Given the description of an element on the screen output the (x, y) to click on. 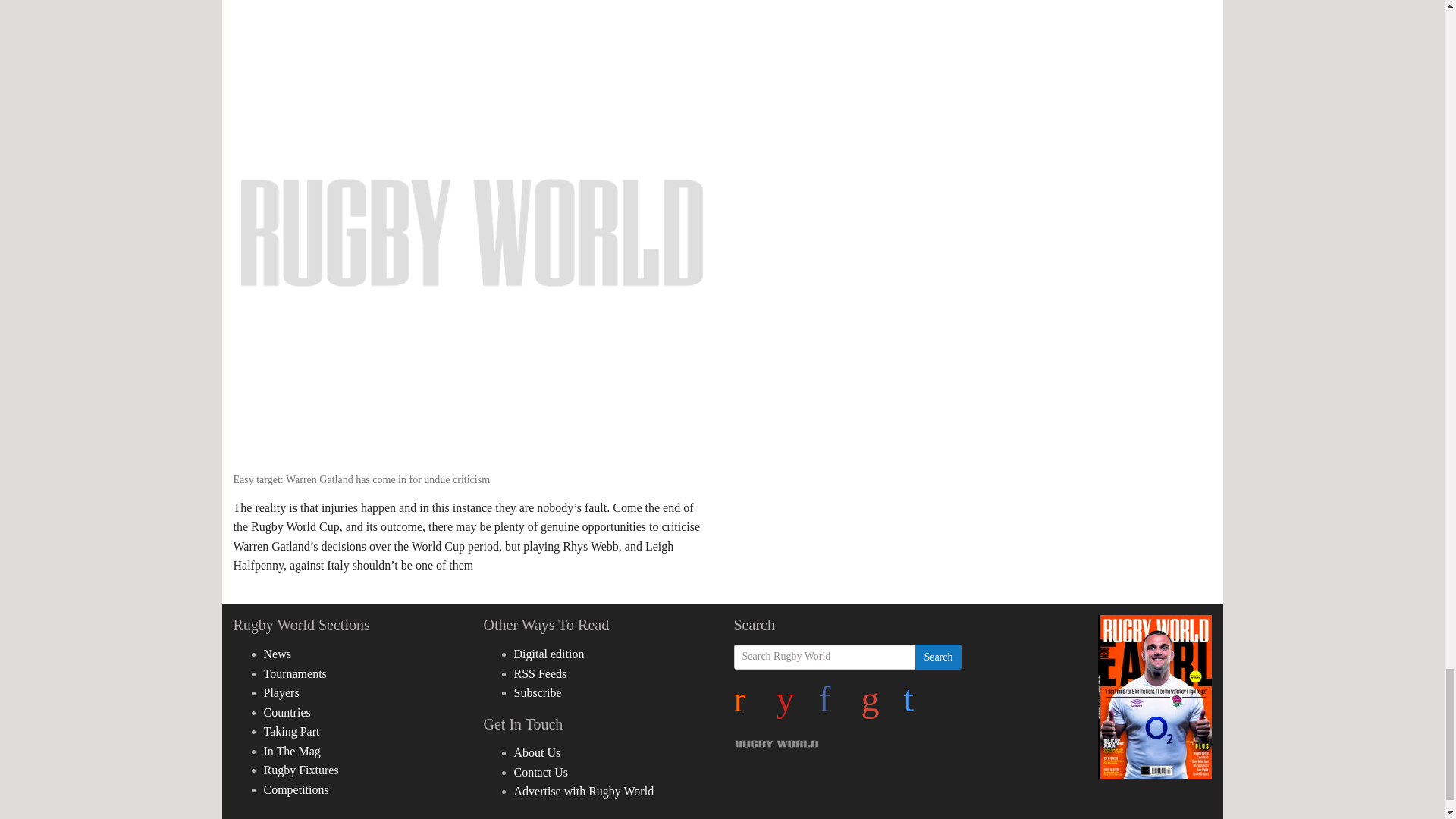
Latest Issue of Rugby World (1154, 696)
